Given the description of an element on the screen output the (x, y) to click on. 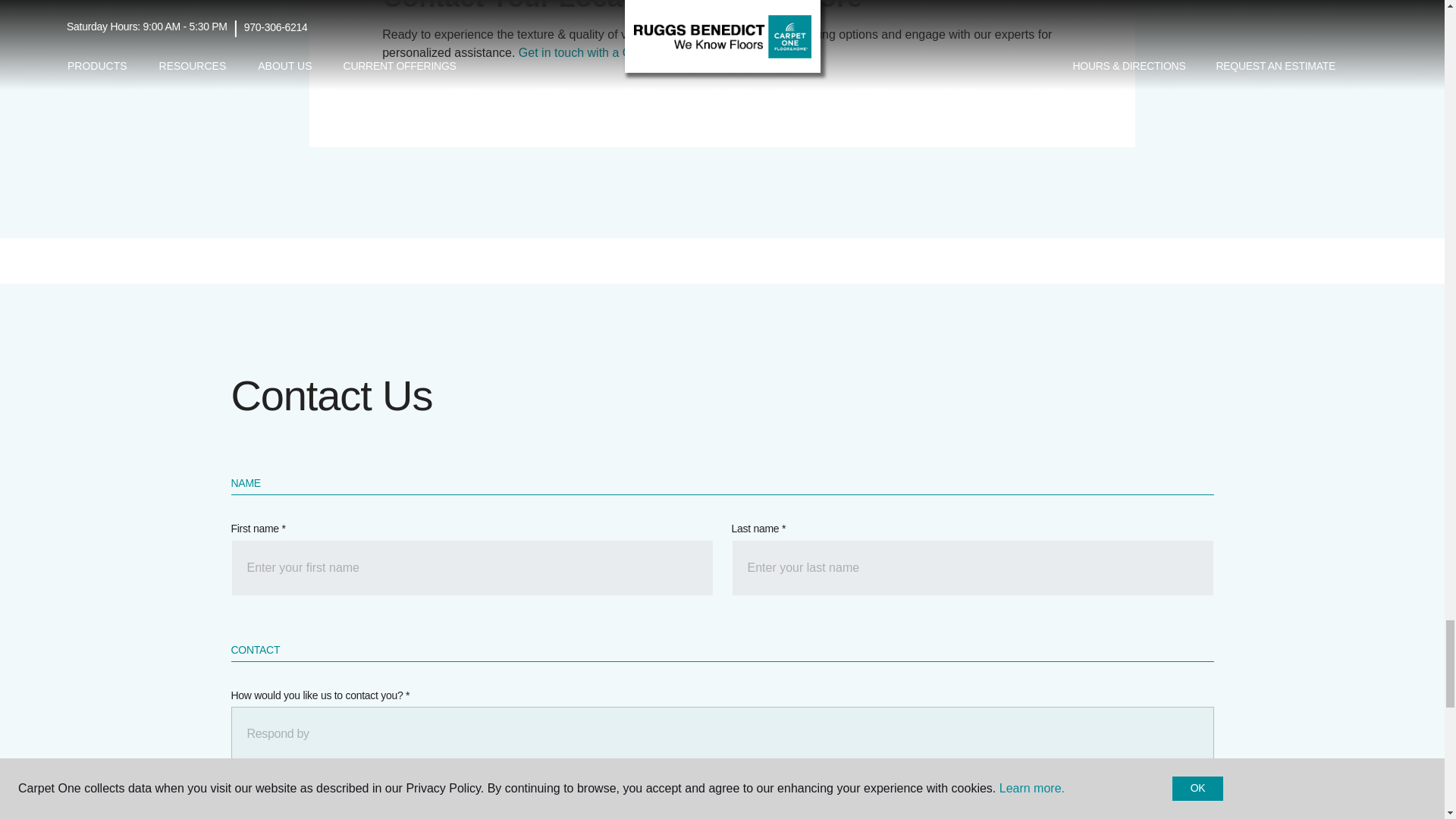
CleanHomePhone (471, 809)
LastName (971, 567)
FirstName (471, 567)
EmailAddress (971, 809)
